Given the description of an element on the screen output the (x, y) to click on. 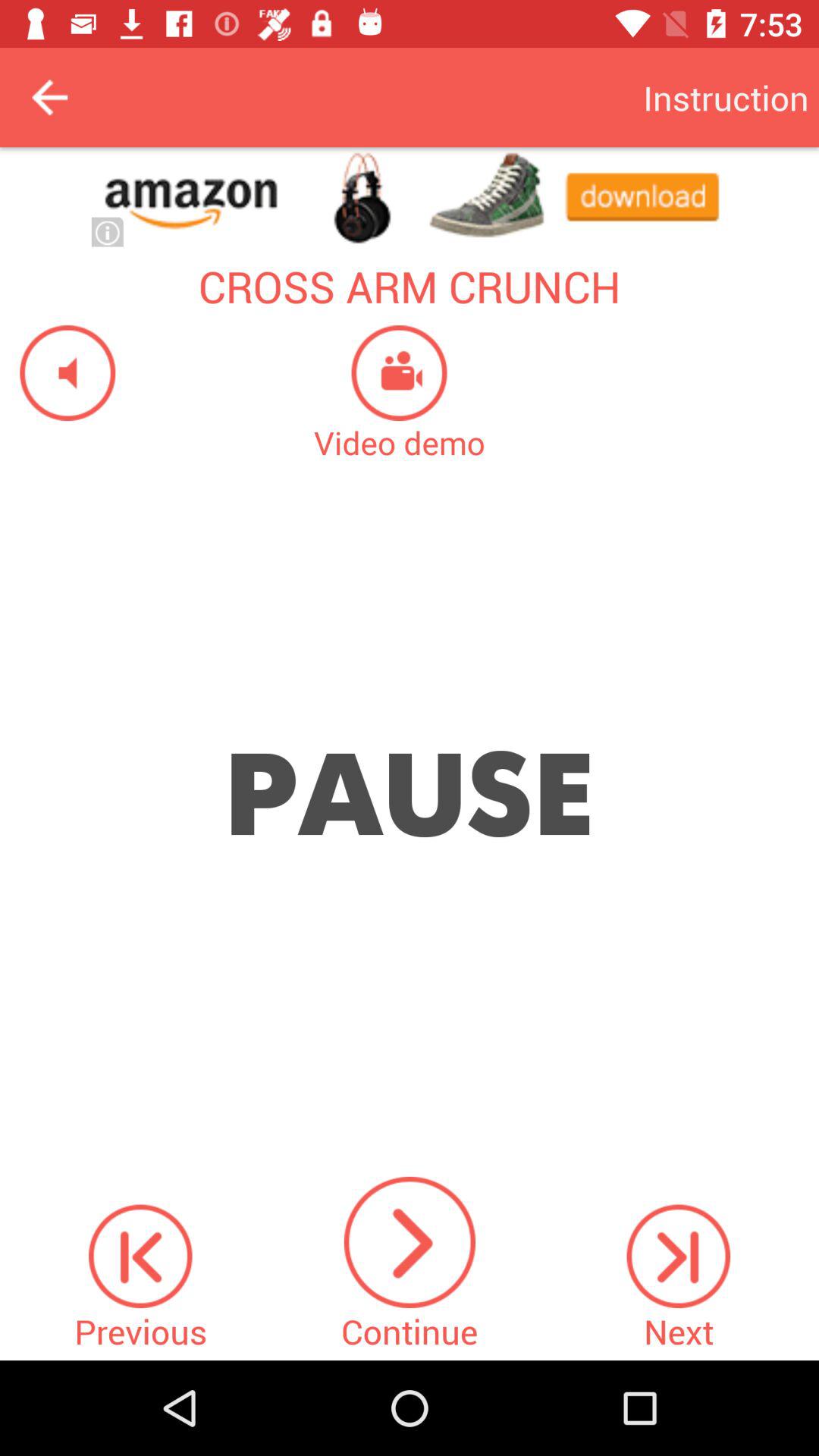
play audio (57, 372)
